Given the description of an element on the screen output the (x, y) to click on. 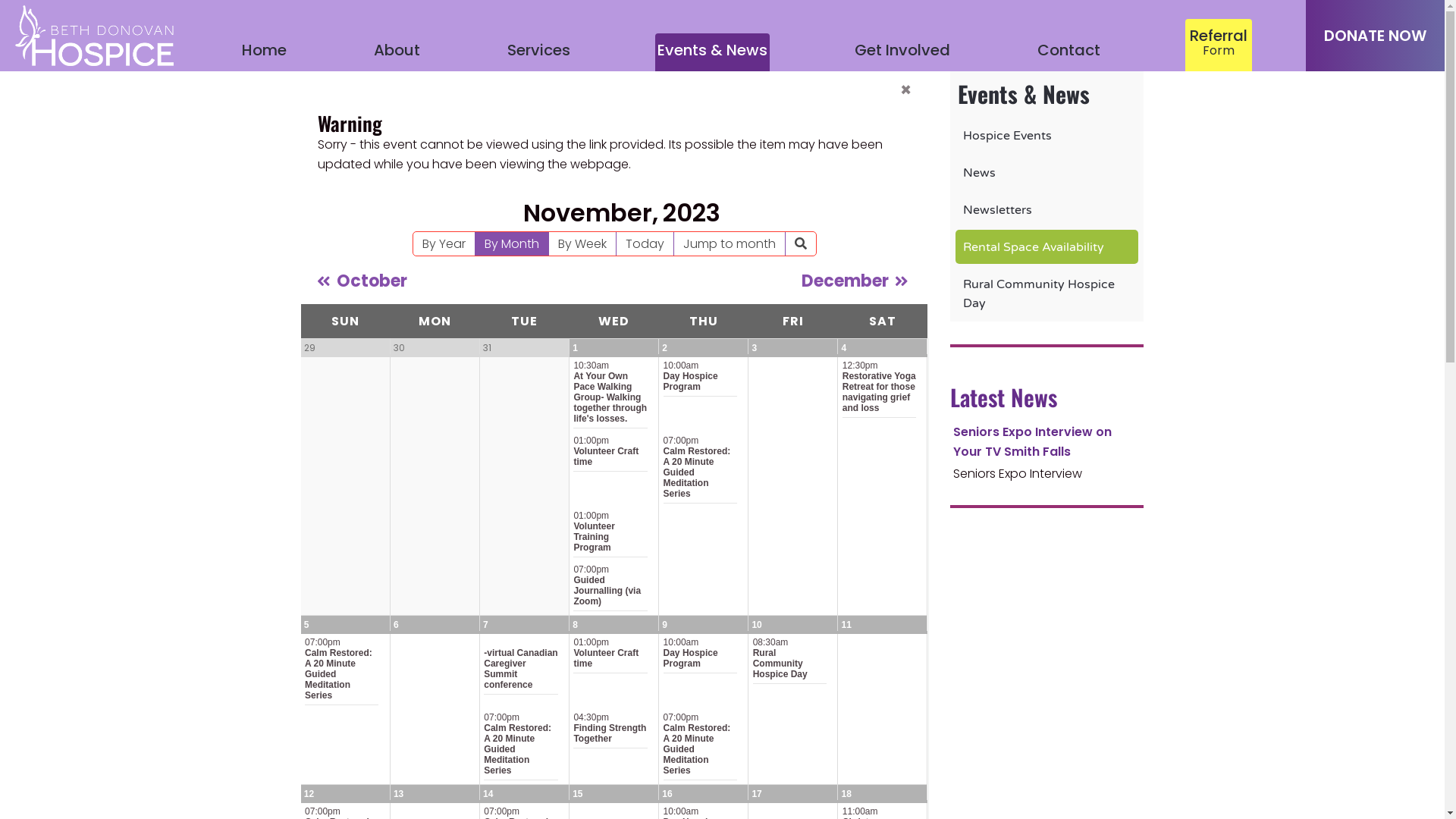
DONATE NOW Element type: text (1374, 35)
07:00pm
Calm Restored: A 20 Minute Guided Meditation Series Element type: text (520, 746)
By Month Element type: text (510, 243)
Today Element type: text (643, 243)
11 Element type: text (846, 624)
9 Element type: text (664, 624)
07:00pm
Calm Restored: A 20 Minute Guided Meditation Series Element type: text (341, 671)
Referral
Form Element type: text (1218, 44)
Search Element type: hover (800, 243)
04:30pm
Finding Strength Together Element type: text (609, 730)
4 Element type: text (844, 347)
By Year Element type: text (442, 243)
16 Element type: text (666, 793)
2 Element type: text (664, 347)
Rural Community Hospice Day Element type: text (1038, 293)
-virtual Canadian Caregiver Summit conference Element type: text (520, 665)
6 Element type: text (395, 624)
14 Element type: text (487, 793)
01:00pm
Volunteer Craft time Element type: text (609, 655)
12 Element type: text (308, 793)
01:00pm
Volunteer Craft time Element type: text (609, 453)
18 Element type: text (846, 793)
Events & News Element type: text (712, 52)
10 Element type: text (756, 624)
News Element type: text (979, 172)
Home Element type: text (263, 52)
October Element type: text (358, 280)
01:00pm
Volunteer Training Program Element type: text (609, 533)
Hospice Events Element type: text (1007, 135)
By Week Element type: text (582, 243)
10:00am
Day Hospice Program Element type: text (700, 378)
15 Element type: text (577, 793)
17 Element type: text (756, 793)
About Element type: text (396, 52)
Newsletters Element type: text (997, 209)
Seniors Expo Interview on Your TV Smith Falls Element type: text (1031, 441)
5 Element type: text (306, 624)
1 Element type: text (574, 347)
10:00am
Day Hospice Program Element type: text (700, 655)
8 Element type: text (574, 624)
08:30am
Rural Community Hospice Day Element type: text (789, 660)
07:00pm
Calm Restored: A 20 Minute Guided Meditation Series Element type: text (700, 746)
Rental Space Availability Element type: text (1033, 246)
December Element type: text (854, 280)
7 Element type: text (485, 624)
Services Element type: text (538, 52)
Get Involved Element type: text (902, 52)
Contact Element type: text (1068, 52)
13 Element type: text (398, 793)
07:00pm
Guided Journalling (via Zoom) Element type: text (609, 587)
07:00pm
Calm Restored: A 20 Minute Guided Meditation Series Element type: text (700, 469)
Jump to month Element type: text (728, 243)
3 Element type: text (753, 347)
